Given the description of an element on the screen output the (x, y) to click on. 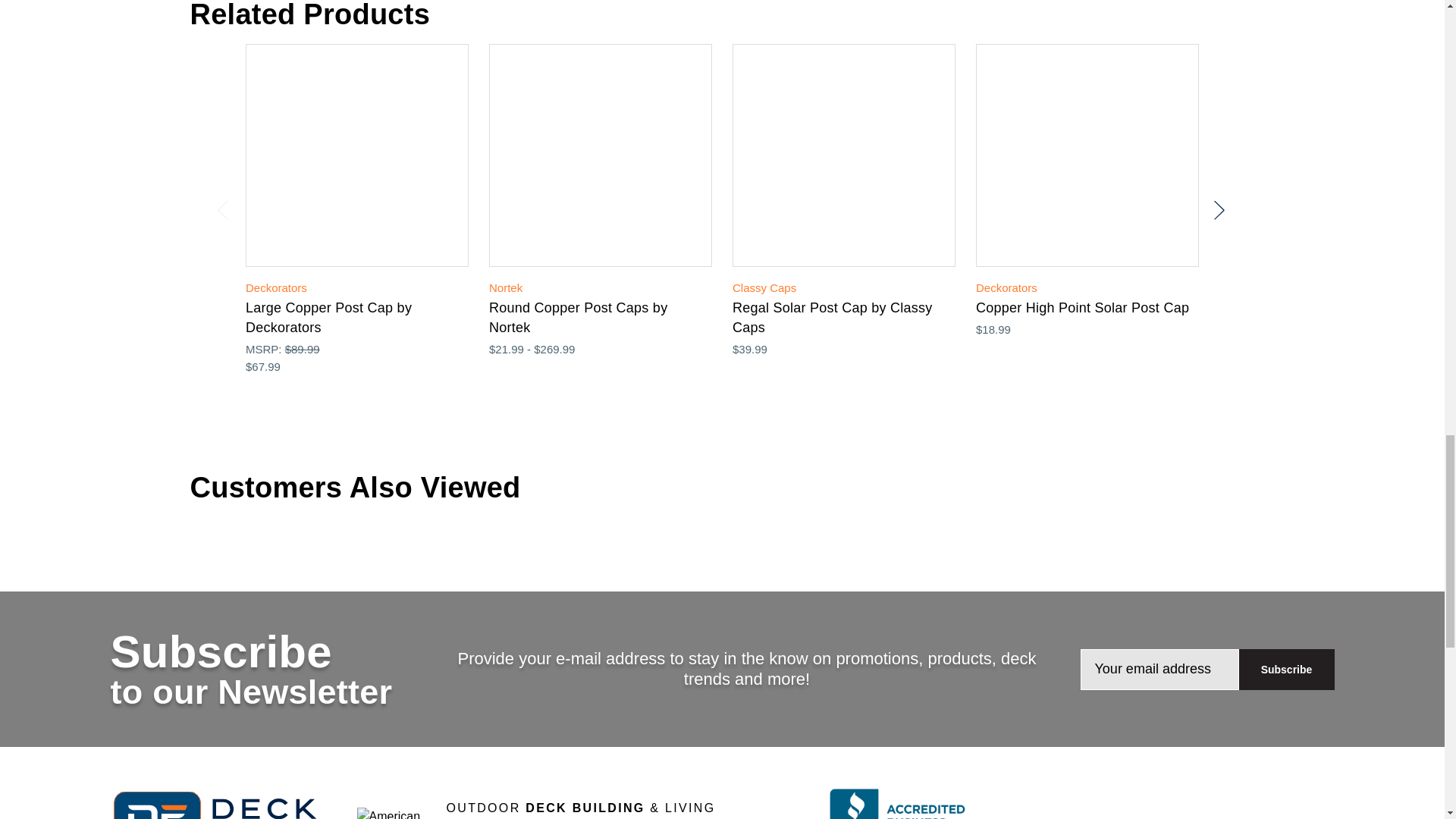
High Point Large Copper Post Cap by Deckorators (356, 154)
Deckorators Copper High Point Solar Post Cap (1086, 154)
Nortek Round Copper Post Caps by Nortek (600, 154)
Deck Expressions (223, 805)
Regal Solar Post Cap by Classy Caps (843, 154)
Subscribe (1287, 669)
